Given the description of an element on the screen output the (x, y) to click on. 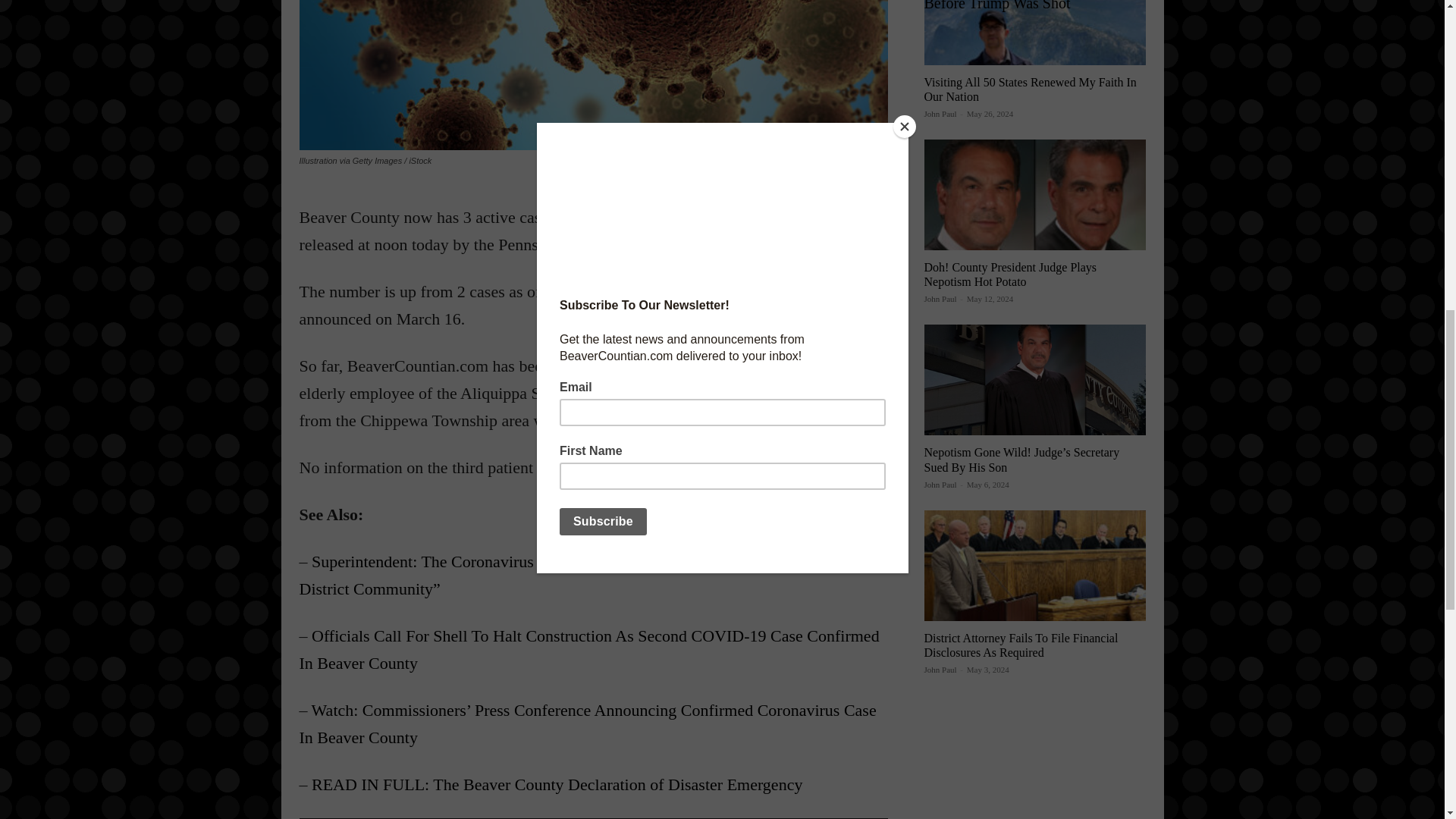
coronavirus (592, 74)
John Paul (939, 298)
Doh! County President Judge Plays Nepotism Hot Potato (1009, 274)
John Paul (939, 112)
Visiting All 50 States Renewed My Faith In Our Nation (1029, 89)
John Paul (939, 483)
John Paul (939, 669)
